Given the description of an element on the screen output the (x, y) to click on. 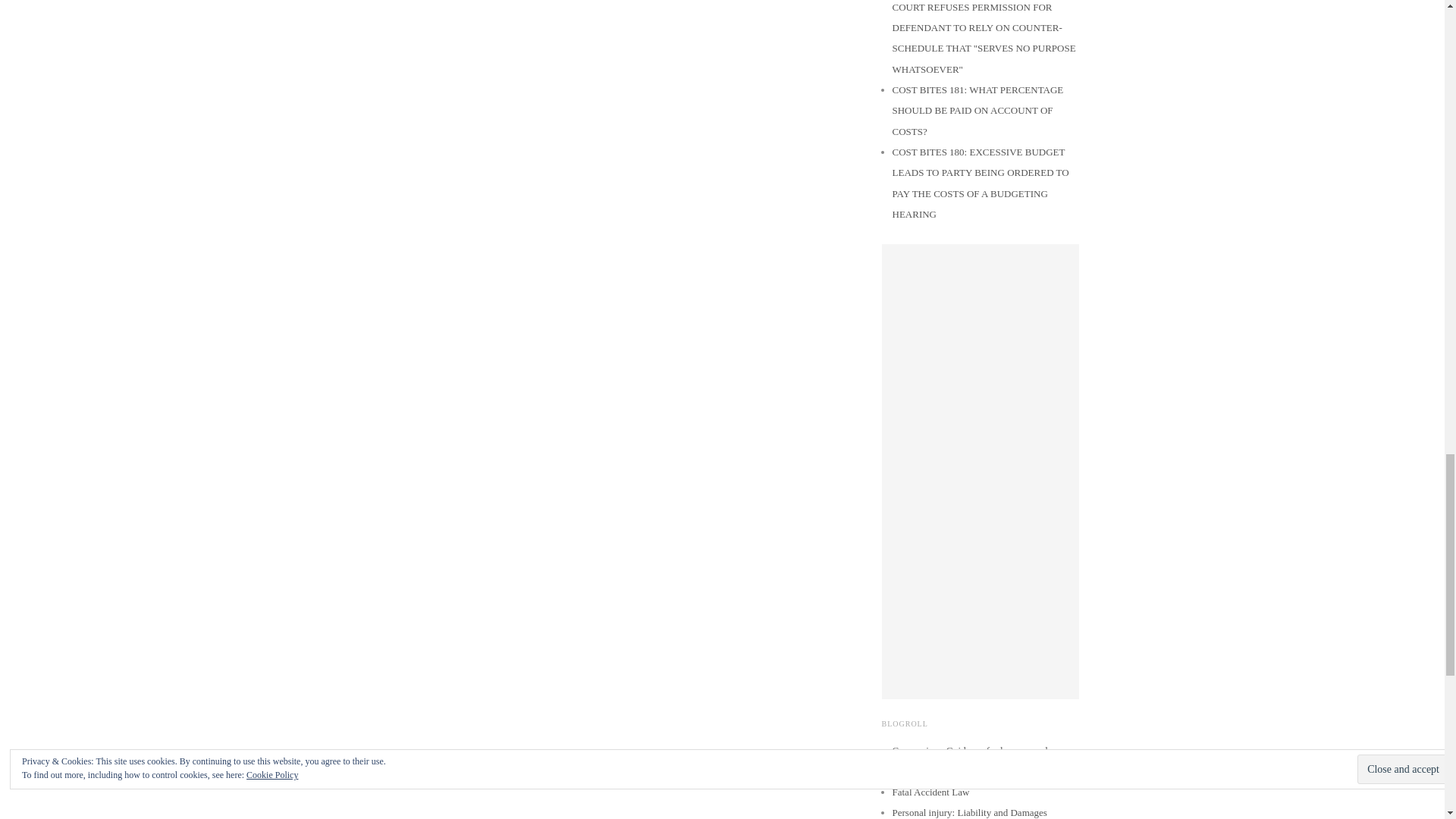
Fatal Accident Law (930, 791)
Personal injury: Liability and Damages (968, 812)
Coronavirus: Guidance for lawyers and businesses (968, 760)
